Given the description of an element on the screen output the (x, y) to click on. 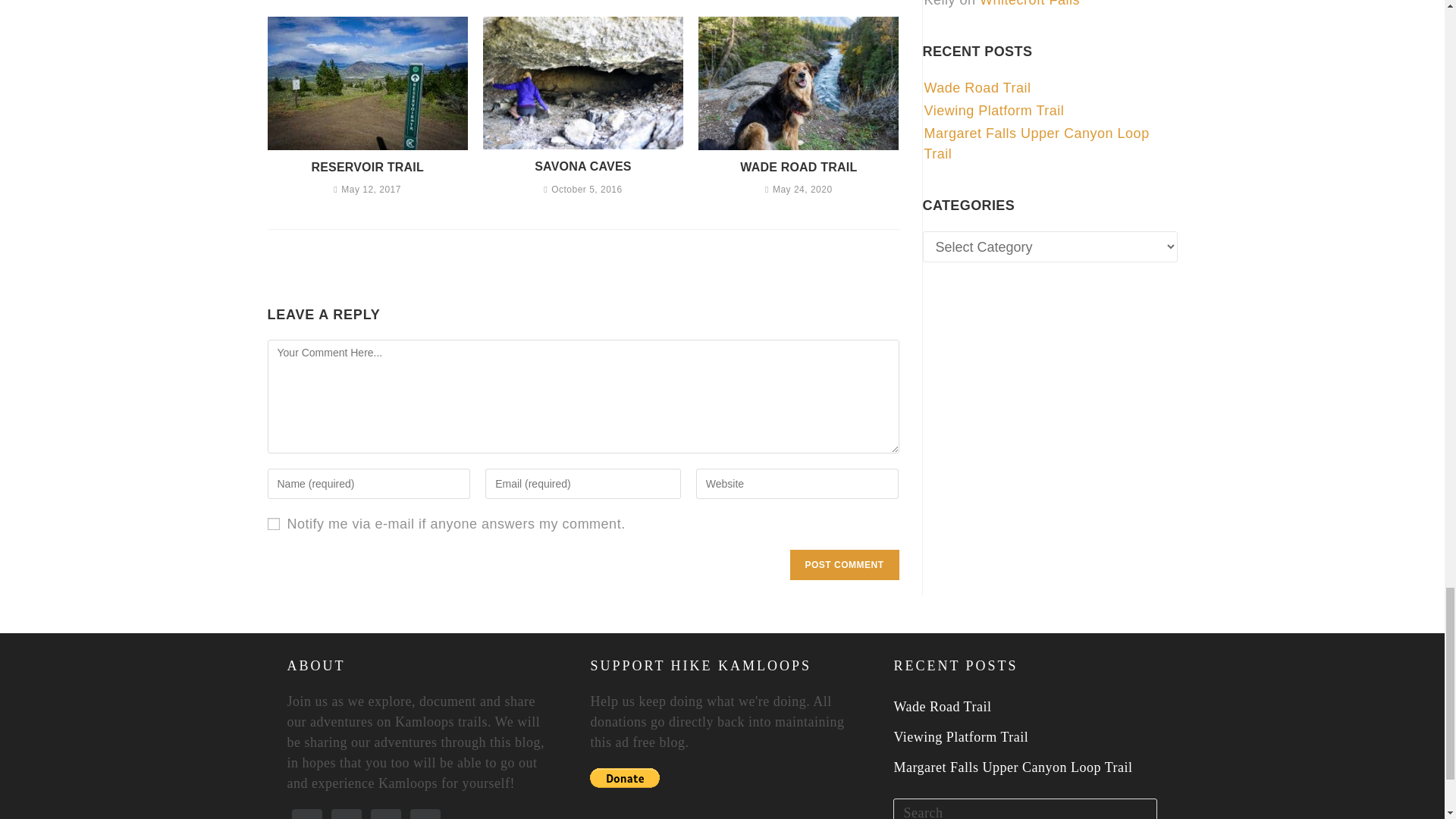
Post Comment (844, 564)
on (272, 523)
